Given the description of an element on the screen output the (x, y) to click on. 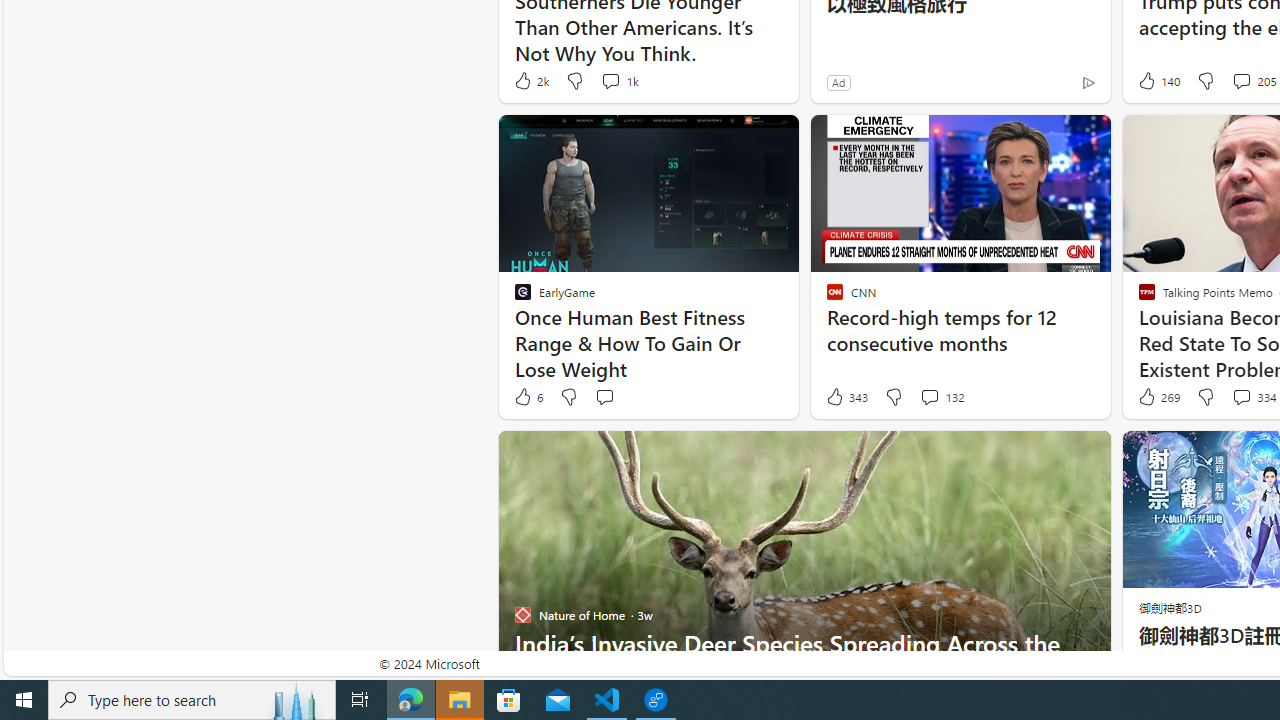
View comments 132 Comment (929, 396)
Ad Choice (1087, 82)
View comments 334 Comment (1241, 396)
Start the conversation (603, 396)
